Given the description of an element on the screen output the (x, y) to click on. 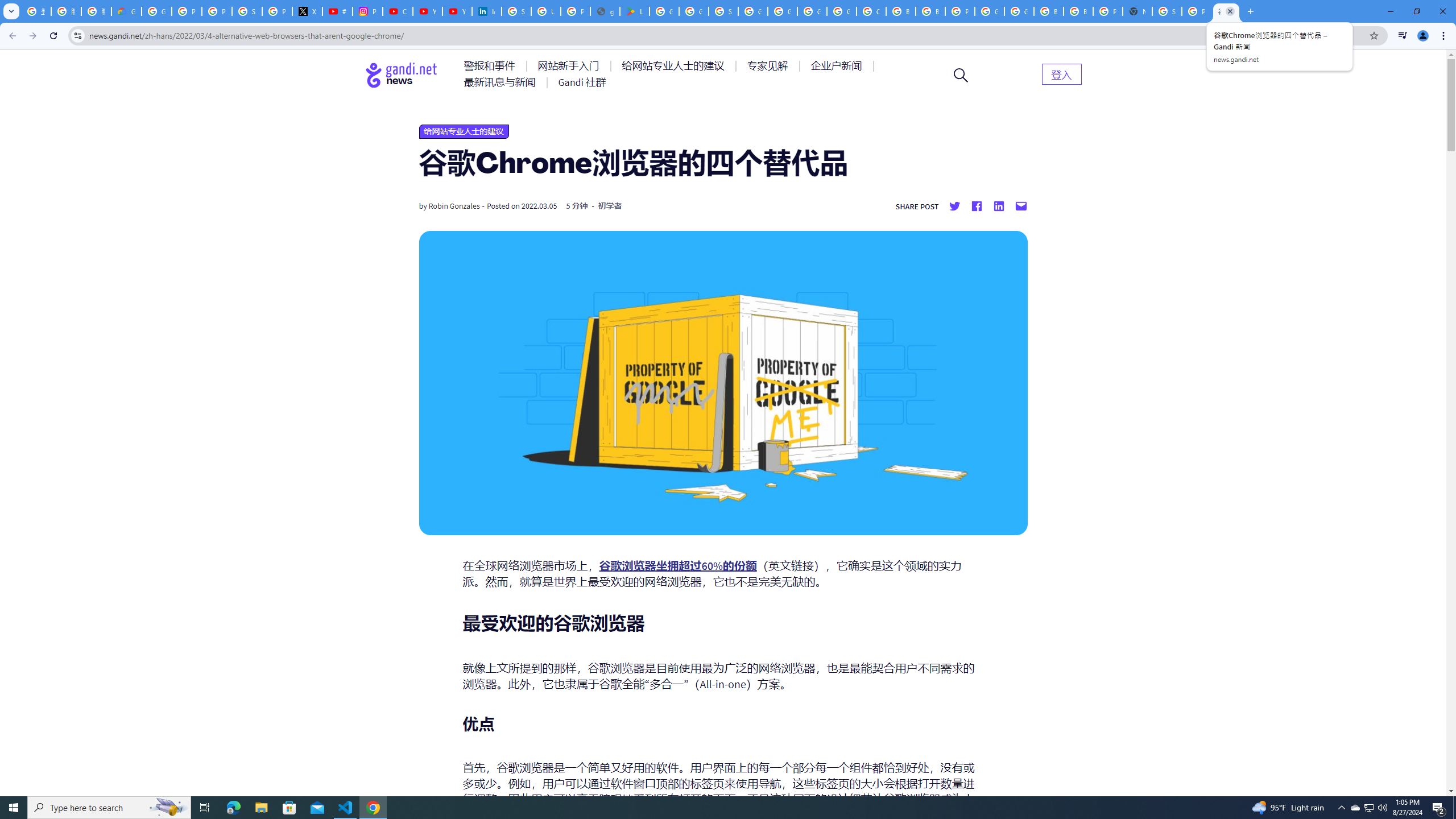
AutomationID: menu-item-77762 (570, 65)
Open search form (960, 74)
Sign in - Google Accounts (1166, 11)
Share on Linkedin (998, 205)
google_privacy_policy_en.pdf (604, 11)
Sign in - Google Accounts (247, 11)
